Given the description of an element on the screen output the (x, y) to click on. 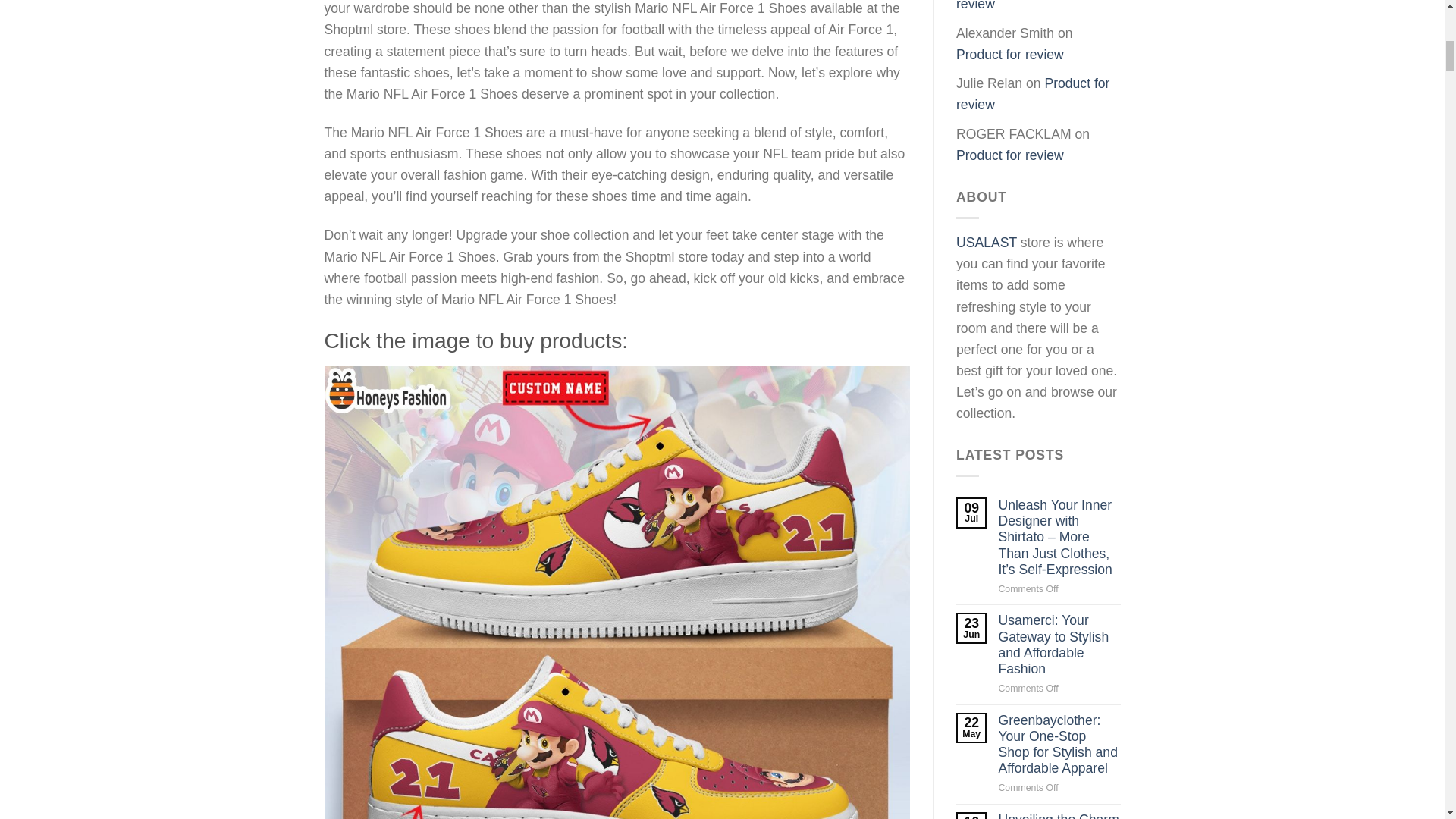
Usamerci: Your Gateway to Stylish and Affordable Fashion (1058, 644)
